Given the description of an element on the screen output the (x, y) to click on. 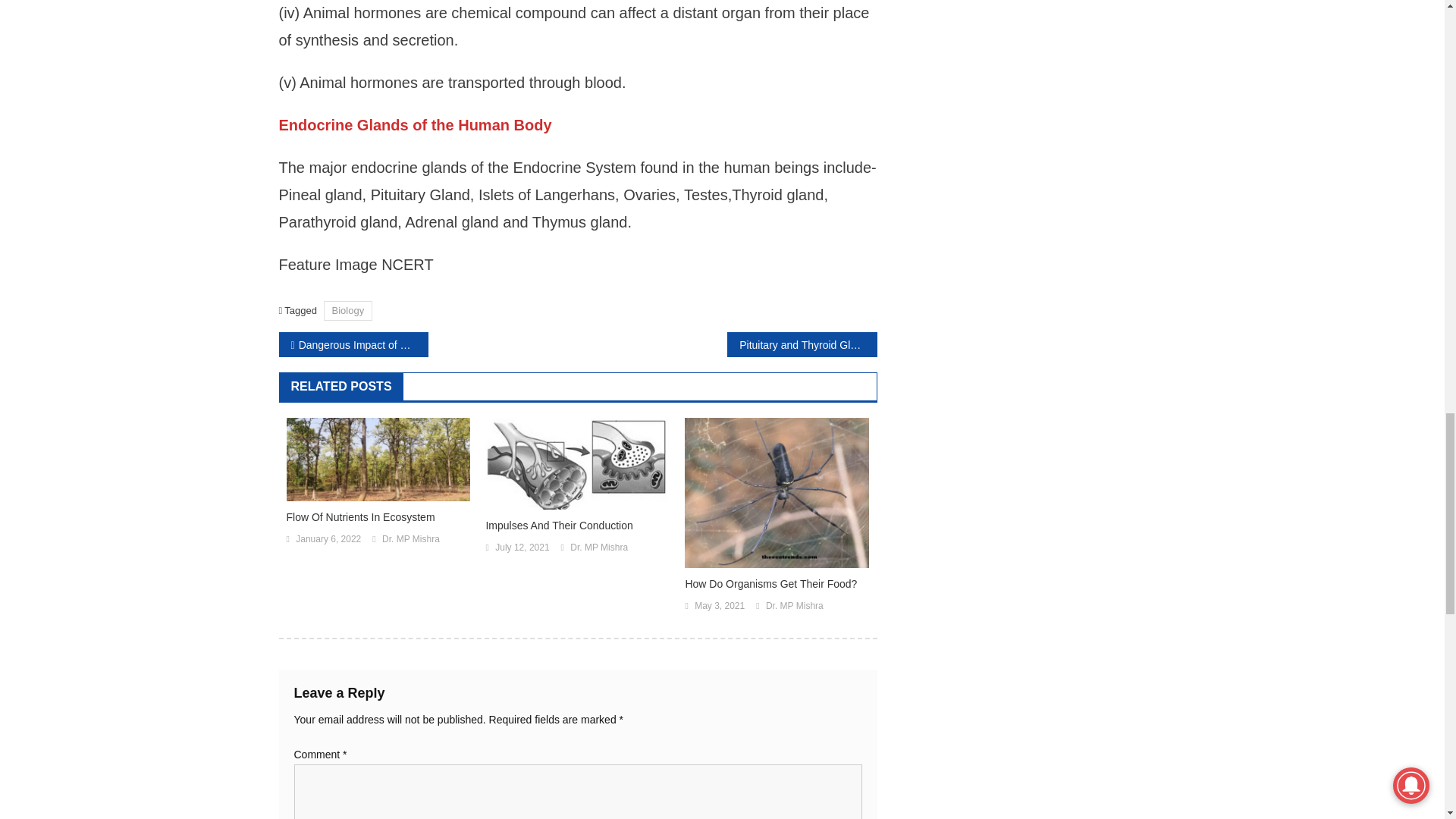
Pituitary and Thyroid Gland of Human Body (801, 344)
Dr. MP Mishra (410, 539)
Dangerous Impact of Breaking of Mountains (353, 344)
Flow Of Nutrients In Ecosystem (378, 516)
January 6, 2022 (328, 539)
Biology (347, 310)
